Given the description of an element on the screen output the (x, y) to click on. 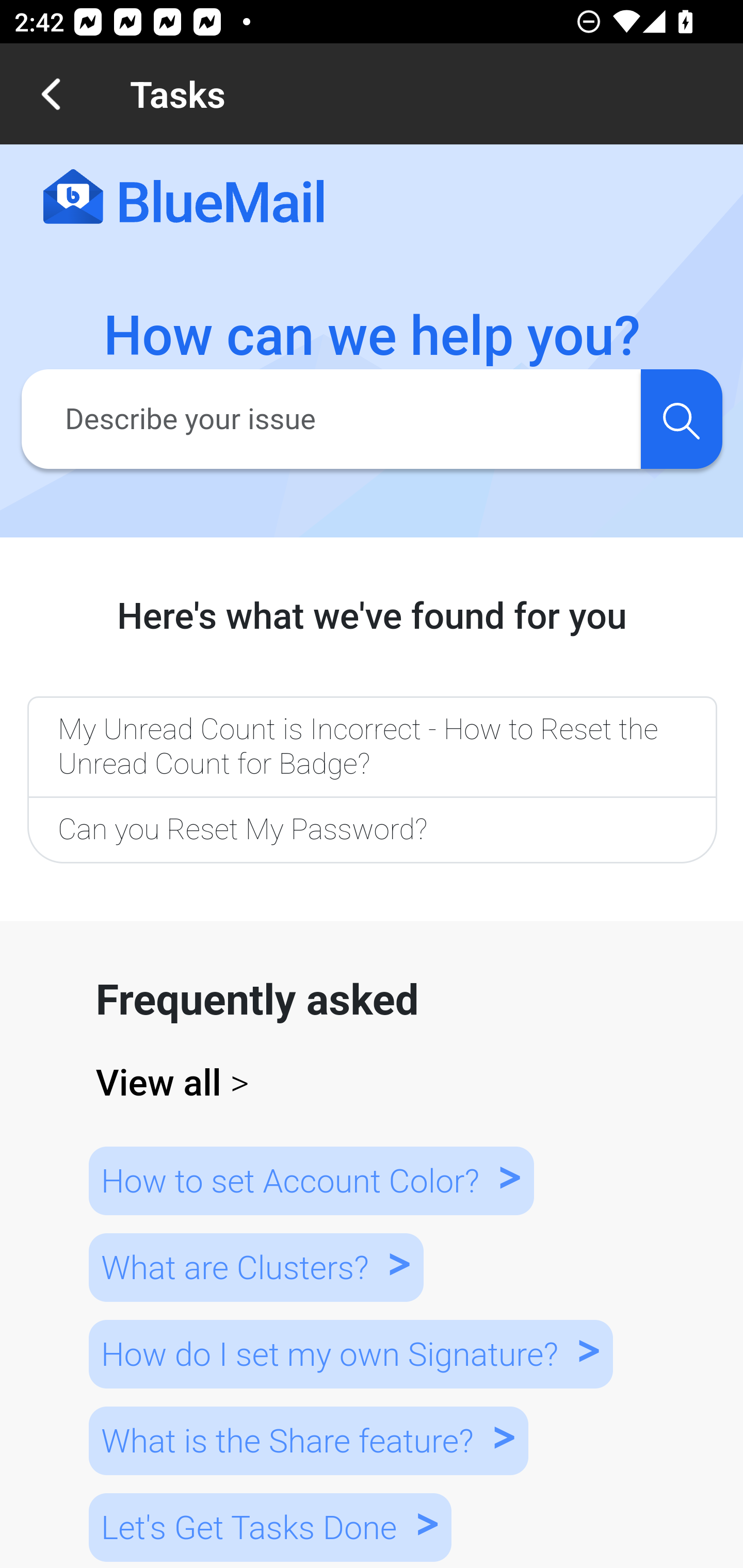
Navigate up (50, 93)
BlueMail Logo (184, 197)
How can we help you? (372, 336)
search (680, 418)
Can you Reset My Password? (371, 830)
View all> (372, 1083)
How to set Account Color?> (310, 1180)
What are Clusters?> (255, 1267)
How do I set my own Signature?> (349, 1353)
What is the Share feature?> (307, 1440)
Let's Get Tasks Done> (269, 1527)
